Given the description of an element on the screen output the (x, y) to click on. 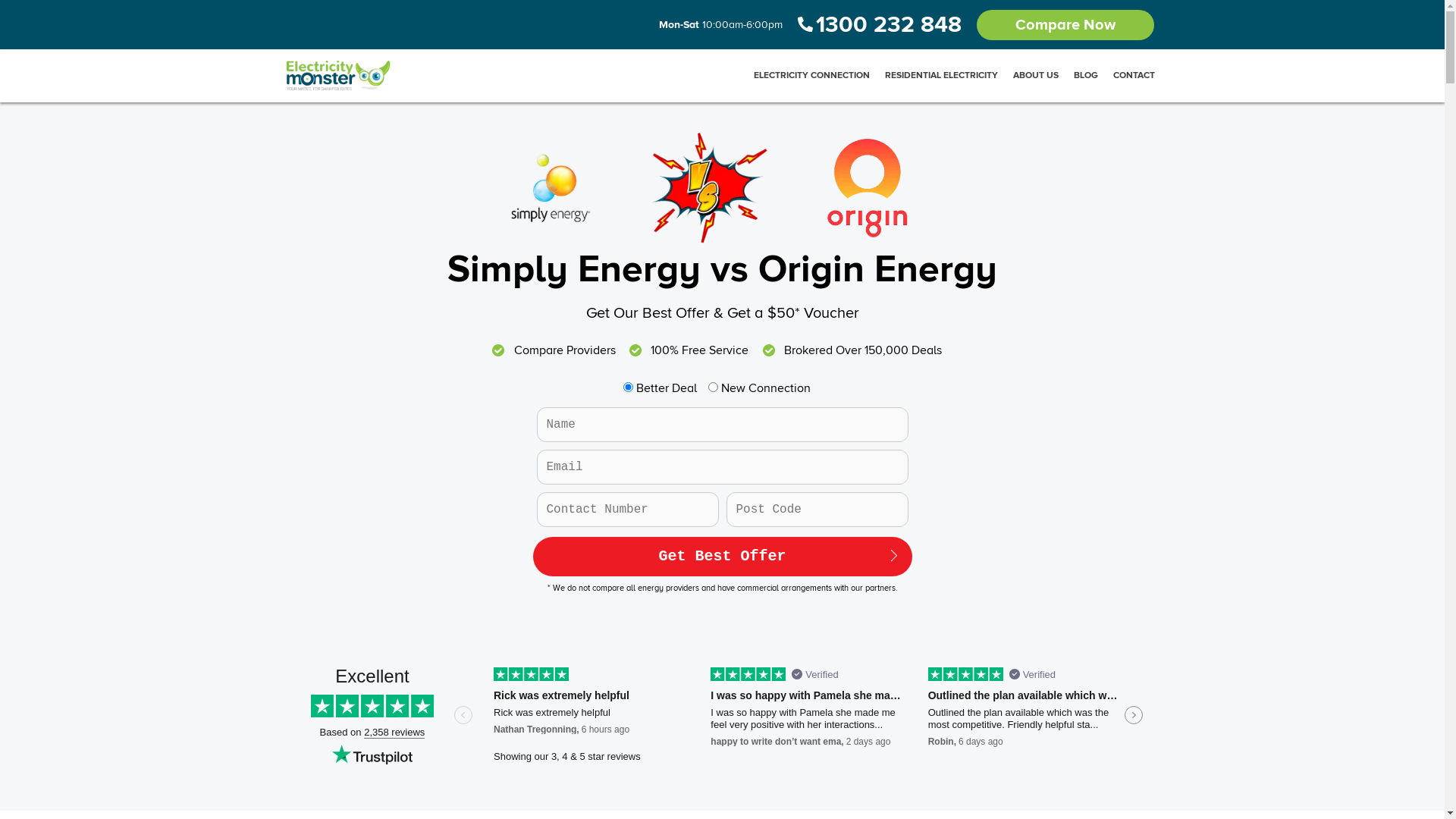
ABOUT US Element type: text (1035, 75)
ELECTRICITY CONNECTION Element type: text (811, 75)
1300 232 848 Element type: text (886, 24)
BLOG Element type: text (1085, 75)
Get Best Offer Element type: text (721, 556)
Compare Now Element type: text (1065, 24)
RESIDENTIAL ELECTRICITY Element type: text (940, 75)
Electricity Monster Element type: hover (338, 75)
CONTACT Element type: text (1133, 75)
Electricity Monster Element type: hover (342, 75)
